Given the description of an element on the screen output the (x, y) to click on. 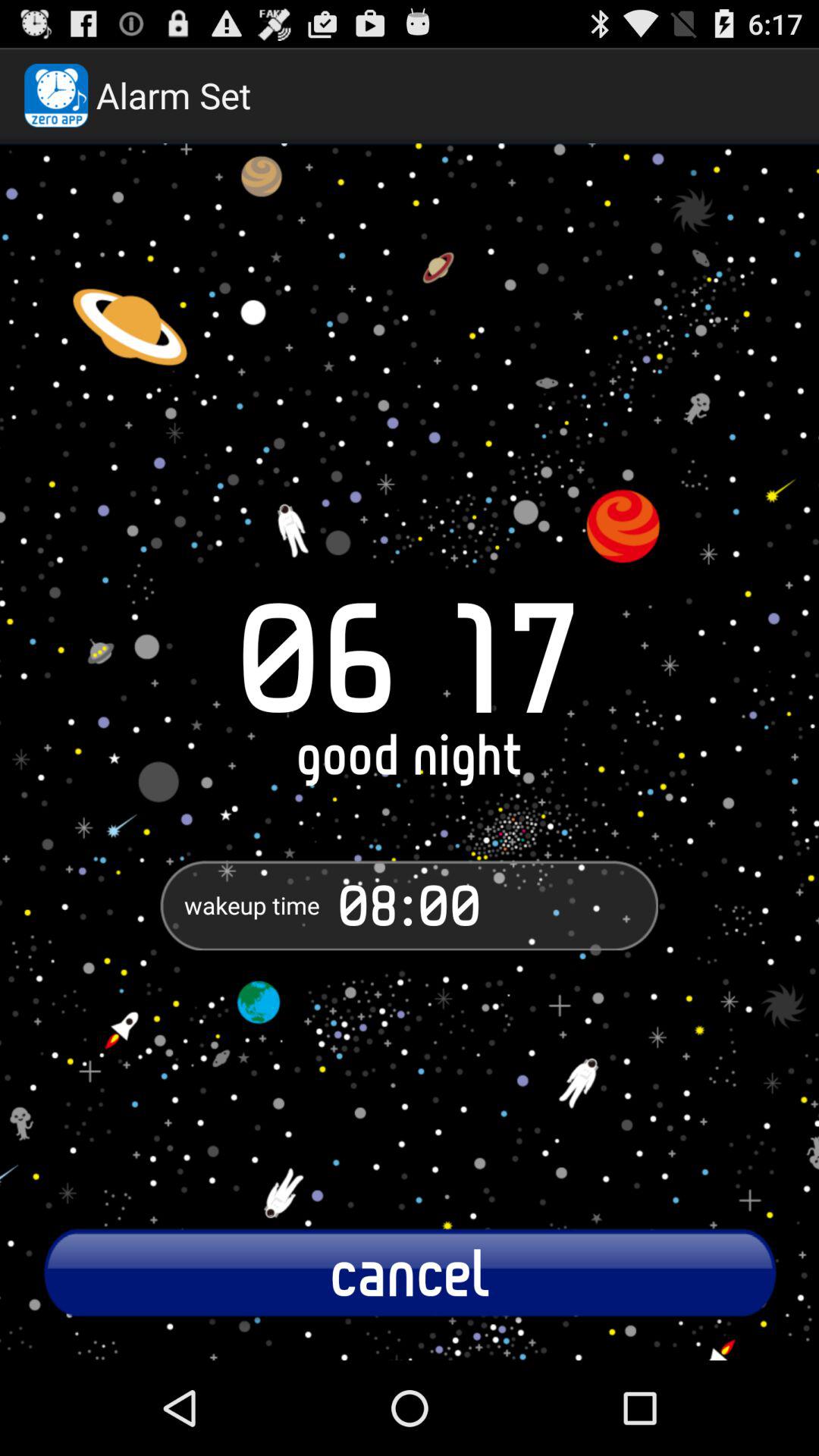
tap item below the 08:00 (409, 1271)
